Given the description of an element on the screen output the (x, y) to click on. 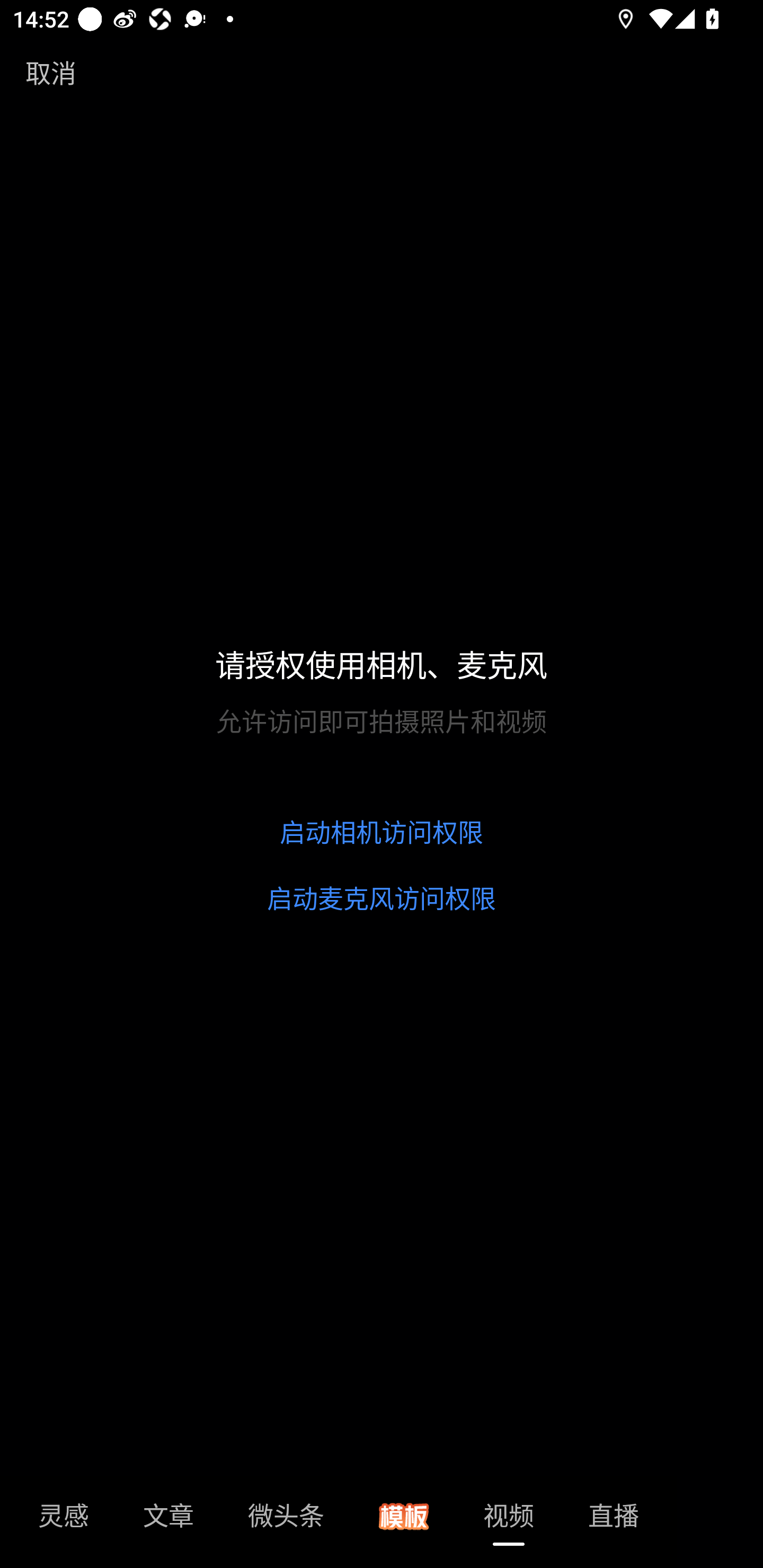
取消 (50, 71)
启动相机访问权限 (381, 832)
启动麦克风访问权限 (381, 898)
灵感 (63, 1521)
文章 (168, 1521)
微头条 (285, 1521)
视频 (508, 1521)
直播 (613, 1521)
